Given the description of an element on the screen output the (x, y) to click on. 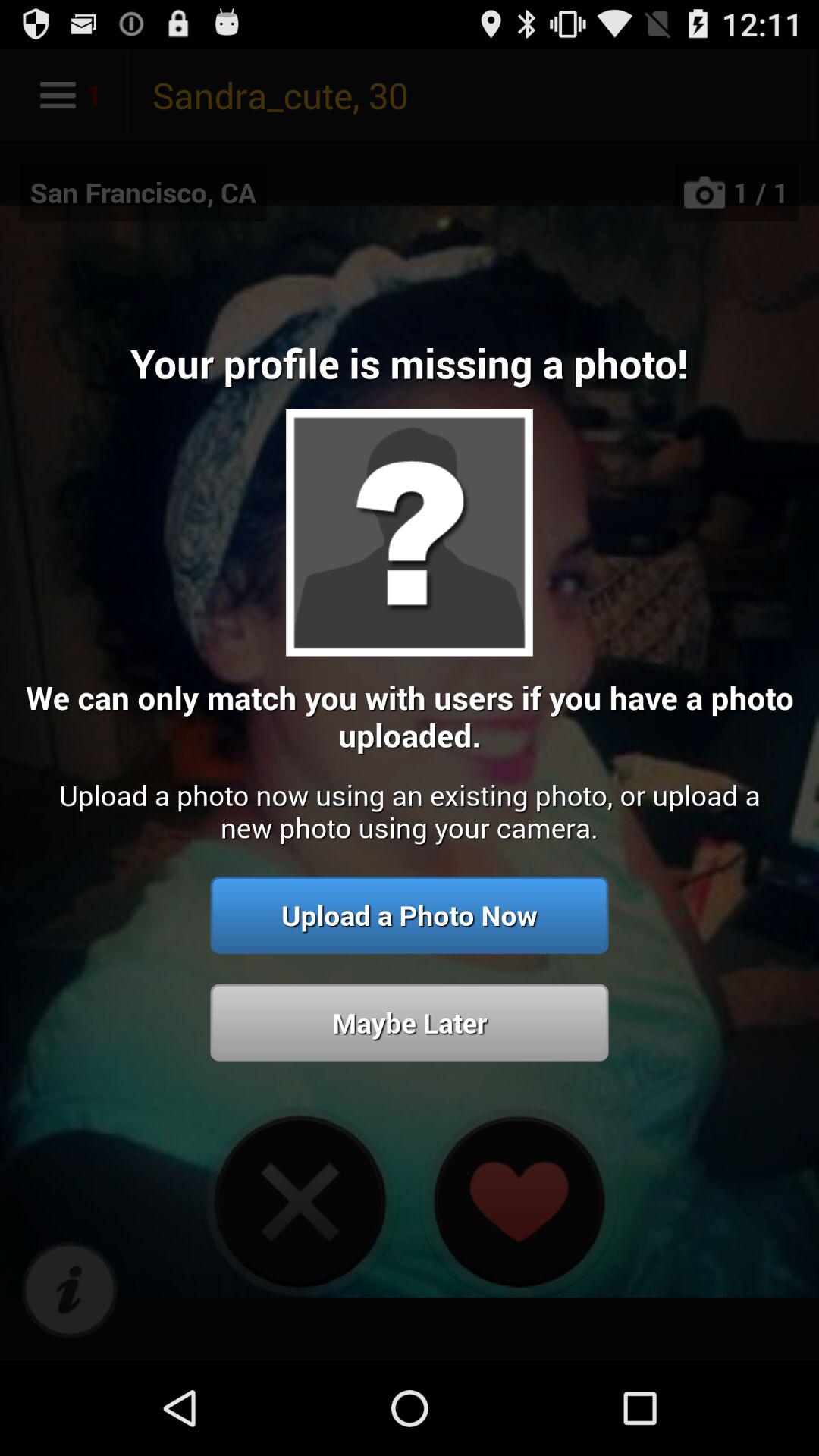
flip to the maybe later (409, 1022)
